Given the description of an element on the screen output the (x, y) to click on. 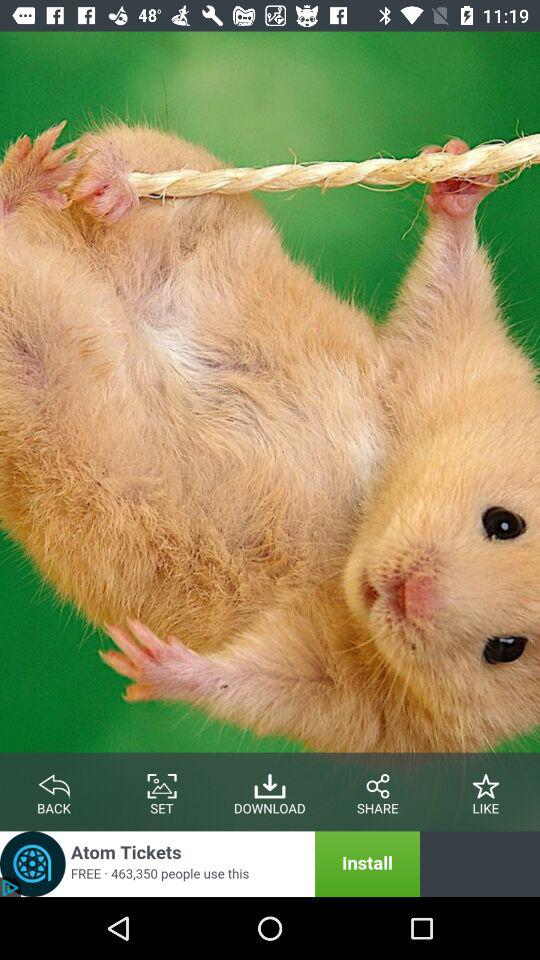
like (485, 782)
